Given the description of an element on the screen output the (x, y) to click on. 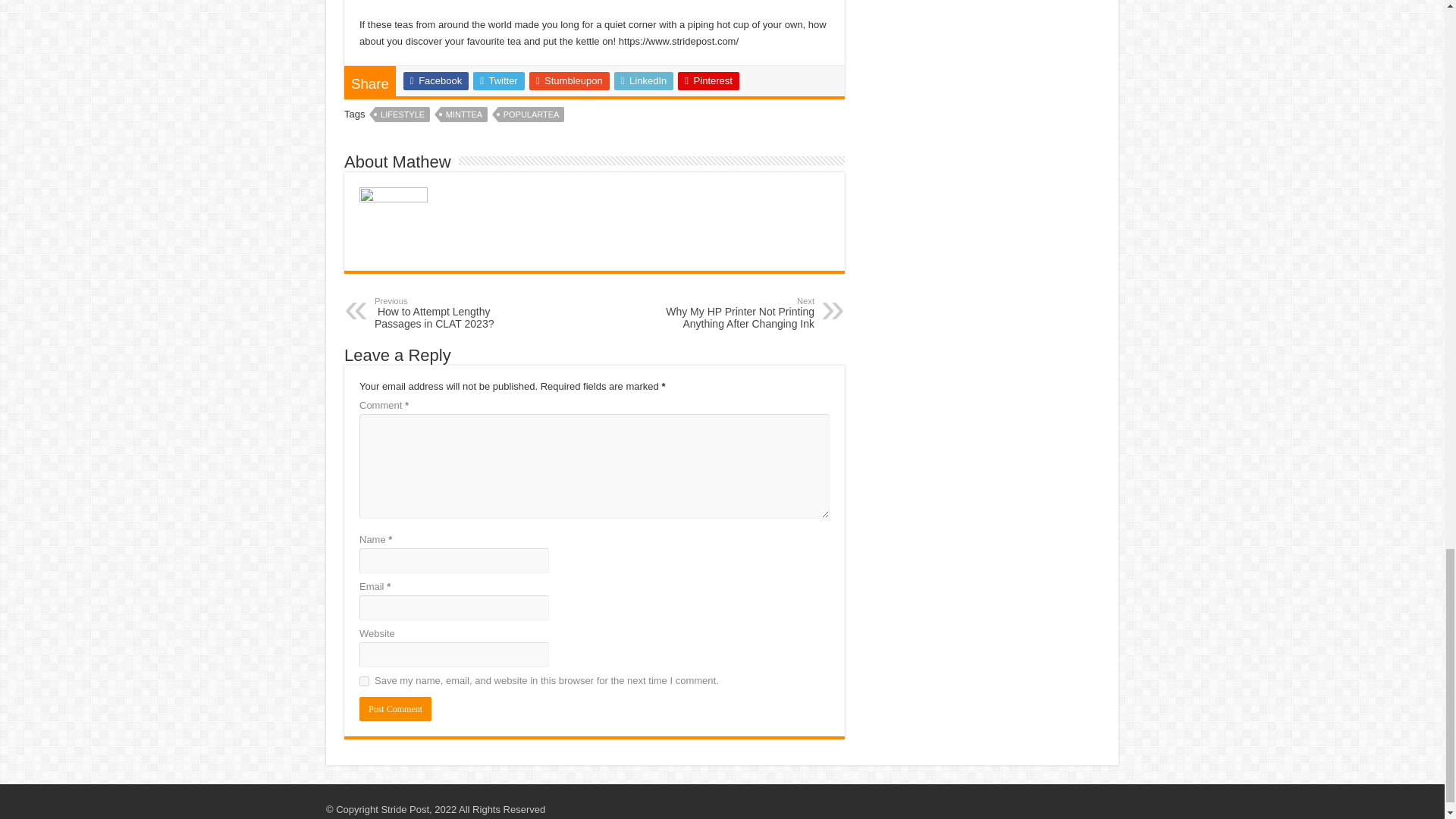
Post Comment (394, 708)
yes (364, 681)
